Given the description of an element on the screen output the (x, y) to click on. 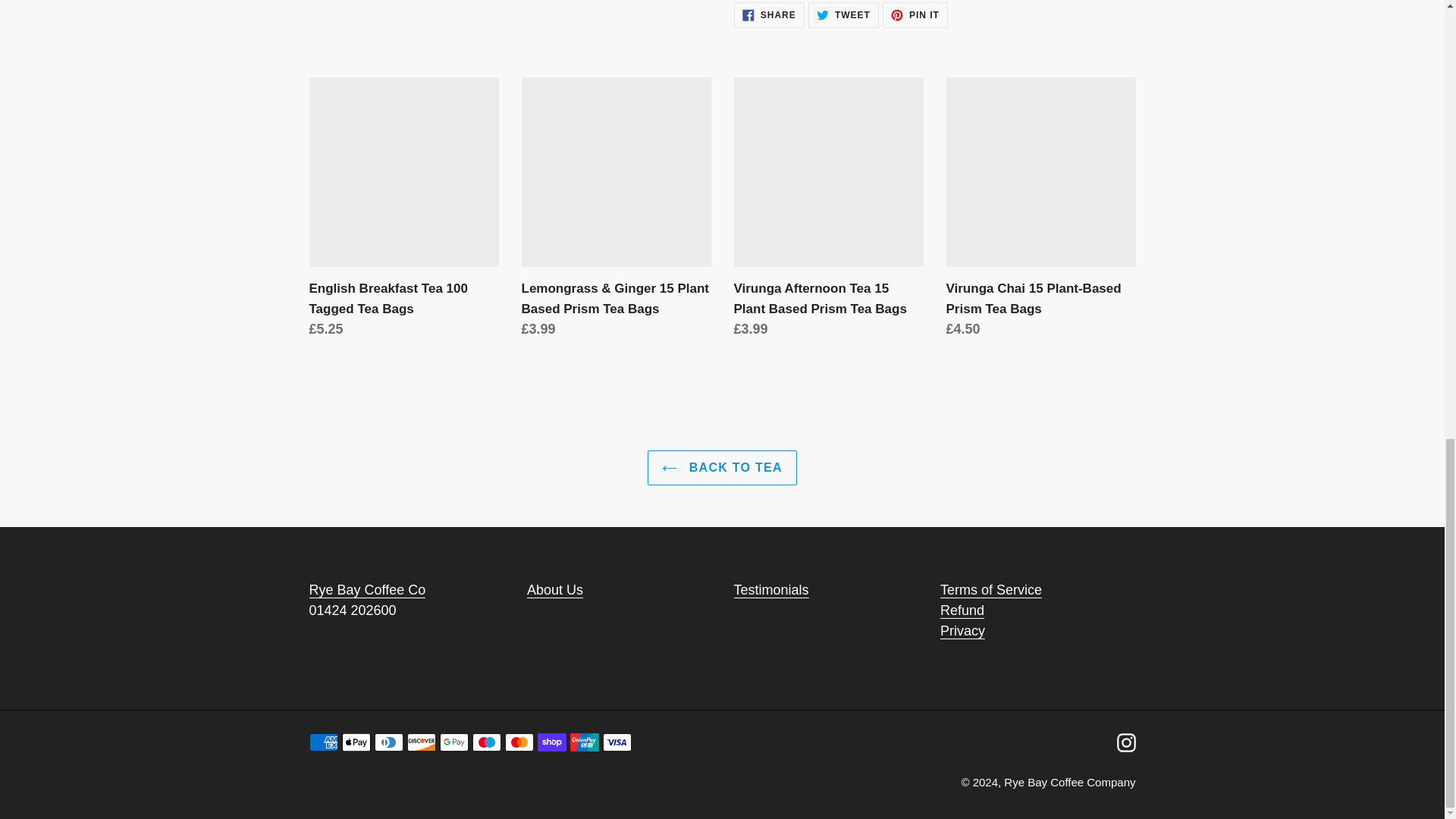
Privacy Policy (962, 641)
Terms of Service (991, 600)
About Us (555, 590)
Testimonials (771, 590)
Contact (367, 590)
